Given the description of an element on the screen output the (x, y) to click on. 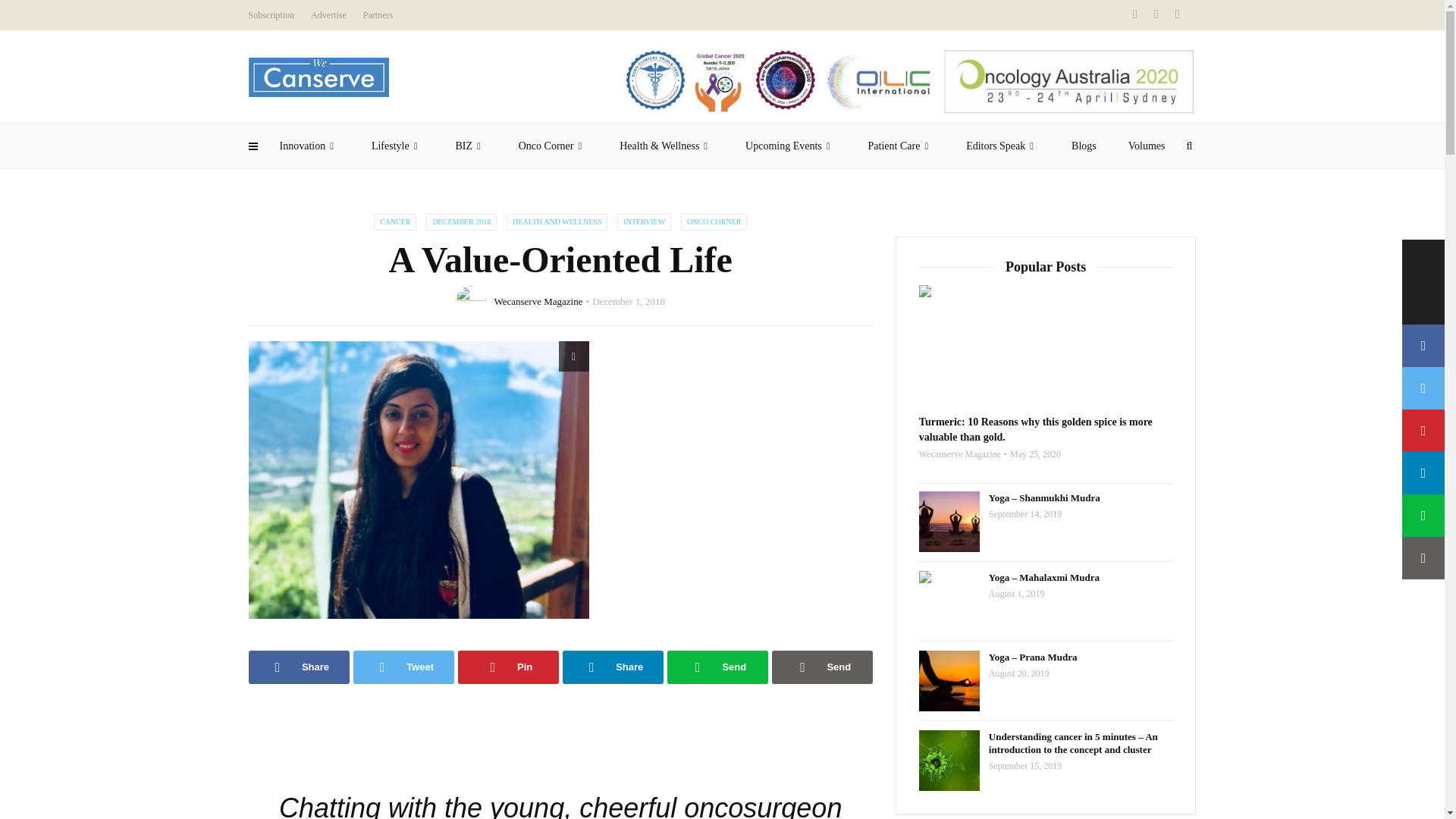
Yoga - Prana Mudra 8 (948, 680)
Yoga - Shanmukhi Mudra 6 (948, 521)
